Given the description of an element on the screen output the (x, y) to click on. 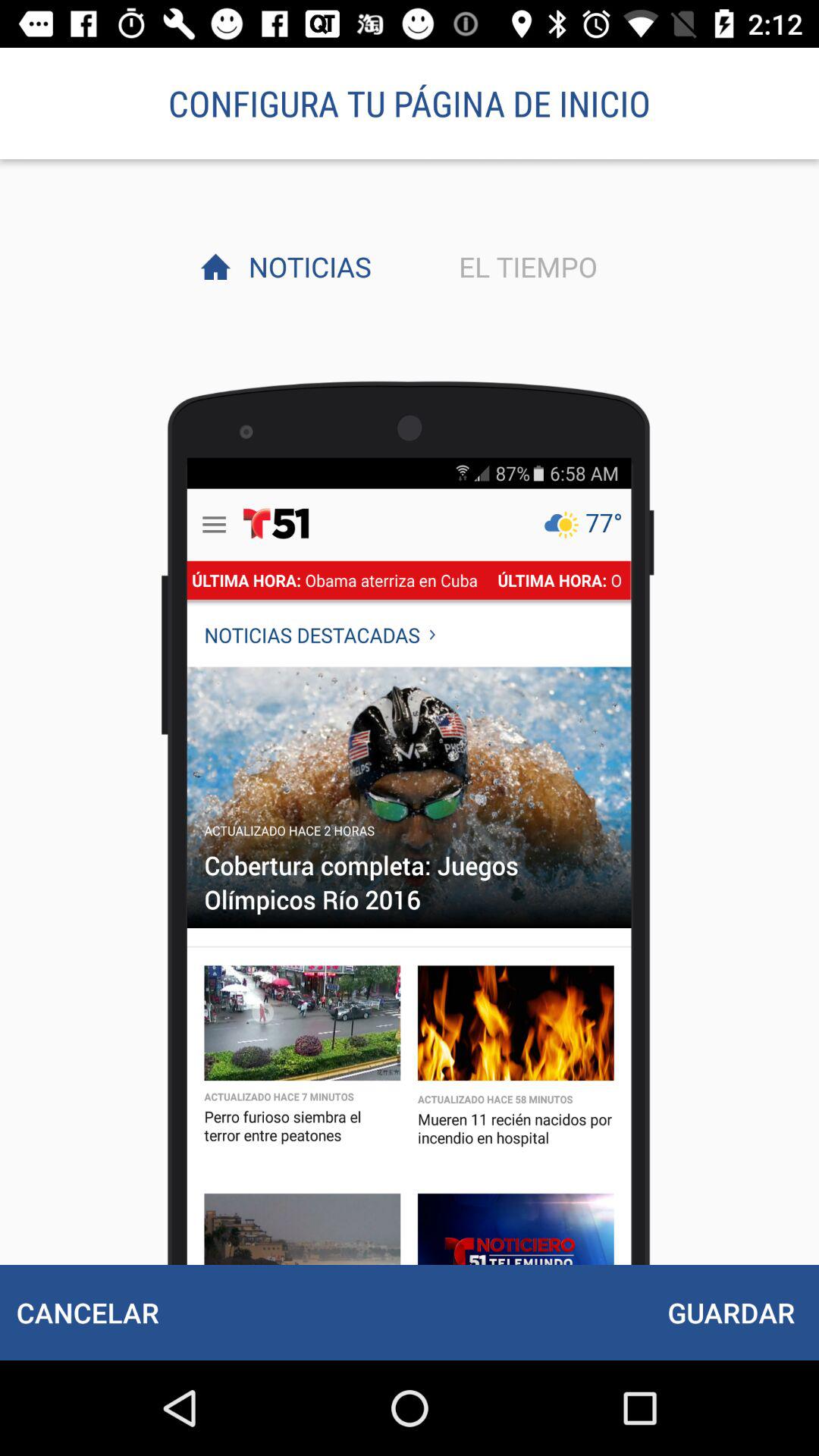
select icon to the left of the guardar (87, 1312)
